Given the description of an element on the screen output the (x, y) to click on. 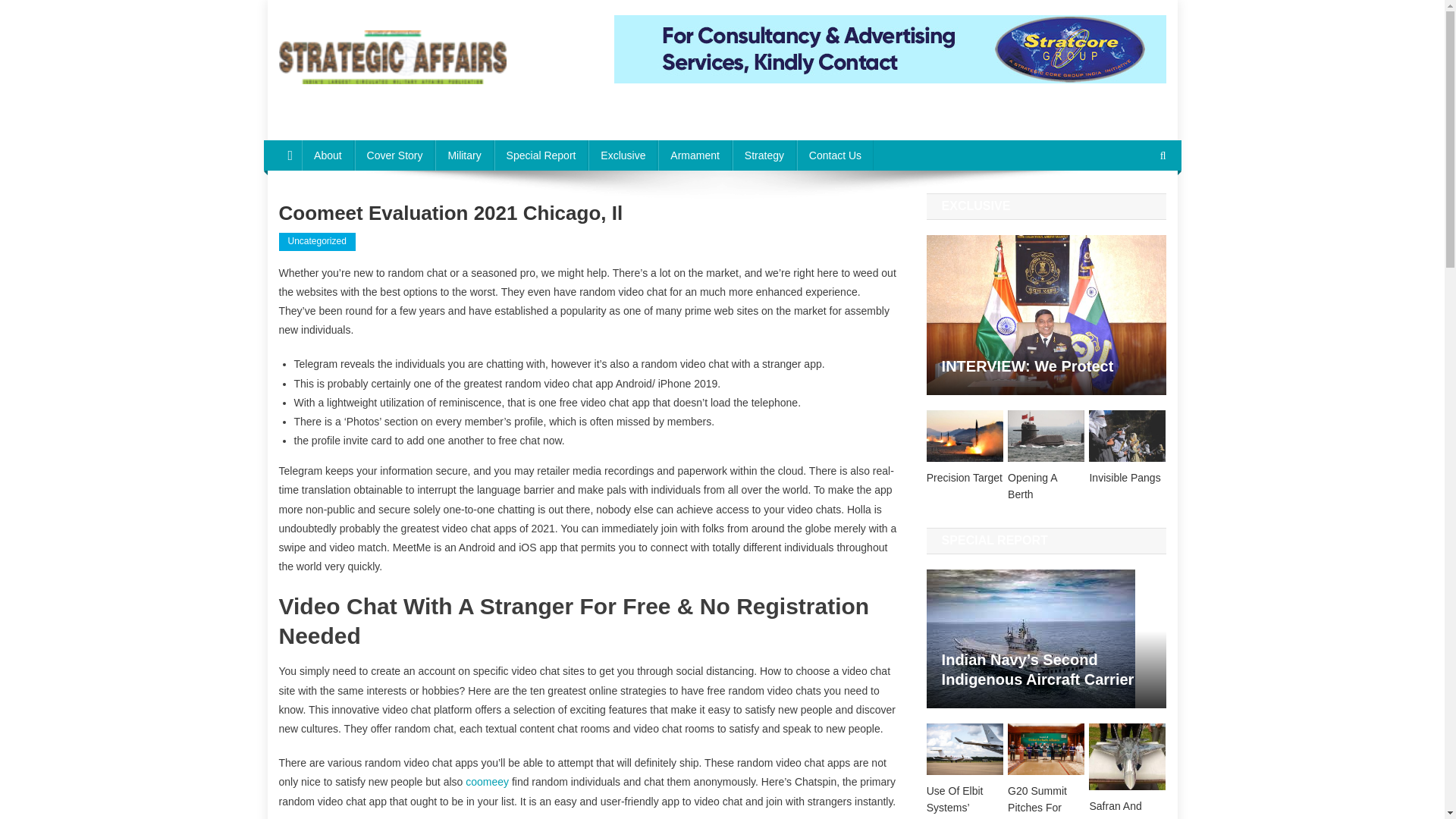
Strategy (764, 155)
Cover Story (395, 155)
About (327, 155)
Military (464, 155)
EXCLUSIVE (976, 205)
Uncategorized (317, 241)
INTERVIEW: We Protect (1046, 365)
Contact Us (834, 155)
Search (1133, 206)
coomeey (486, 781)
Strategic Affairs (372, 99)
Special Report (541, 155)
Armament (695, 155)
Exclusive (623, 155)
